Given the description of an element on the screen output the (x, y) to click on. 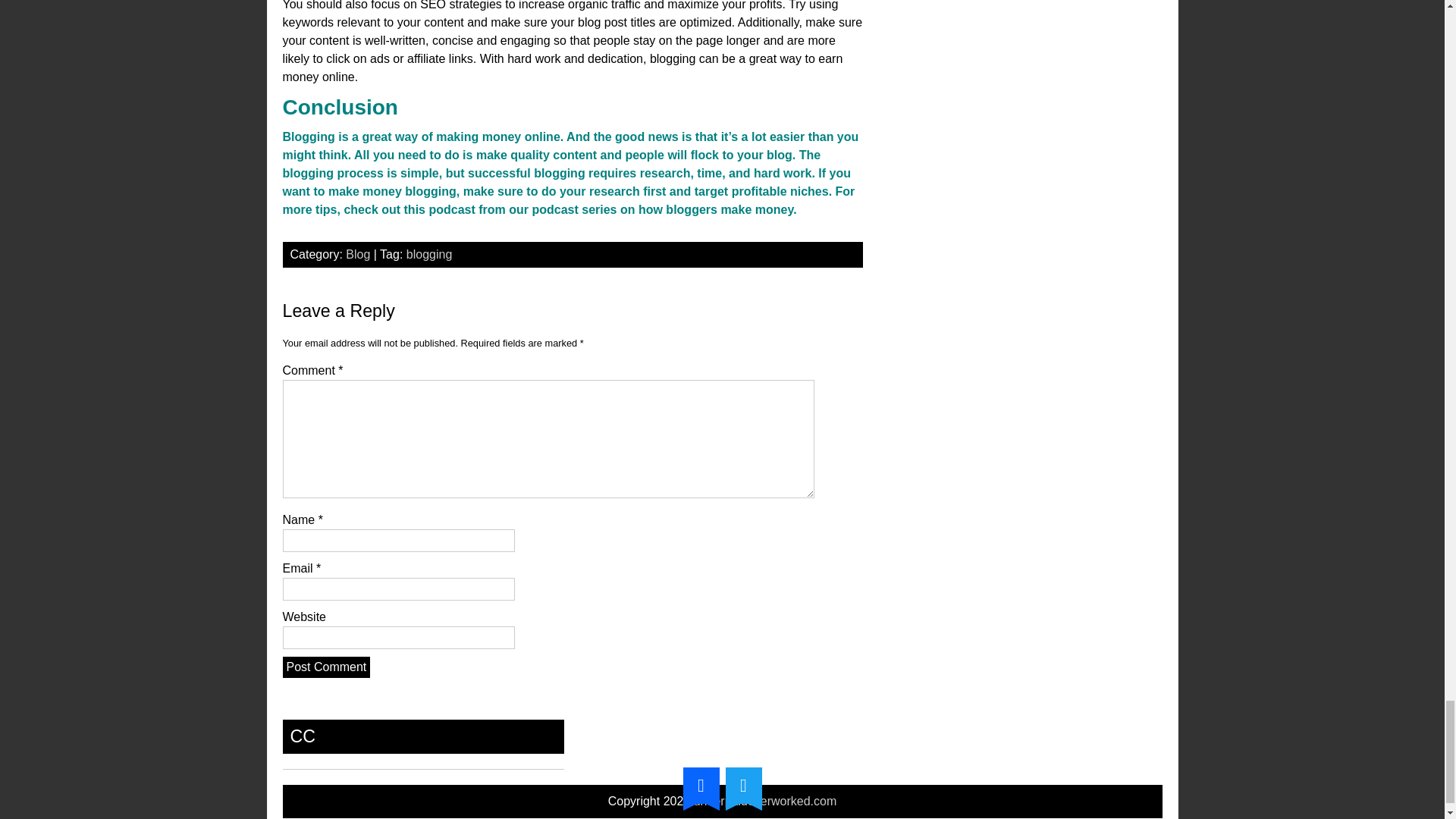
Post Comment (325, 667)
underpaidoverworked.com (765, 800)
